Given the description of an element on the screen output the (x, y) to click on. 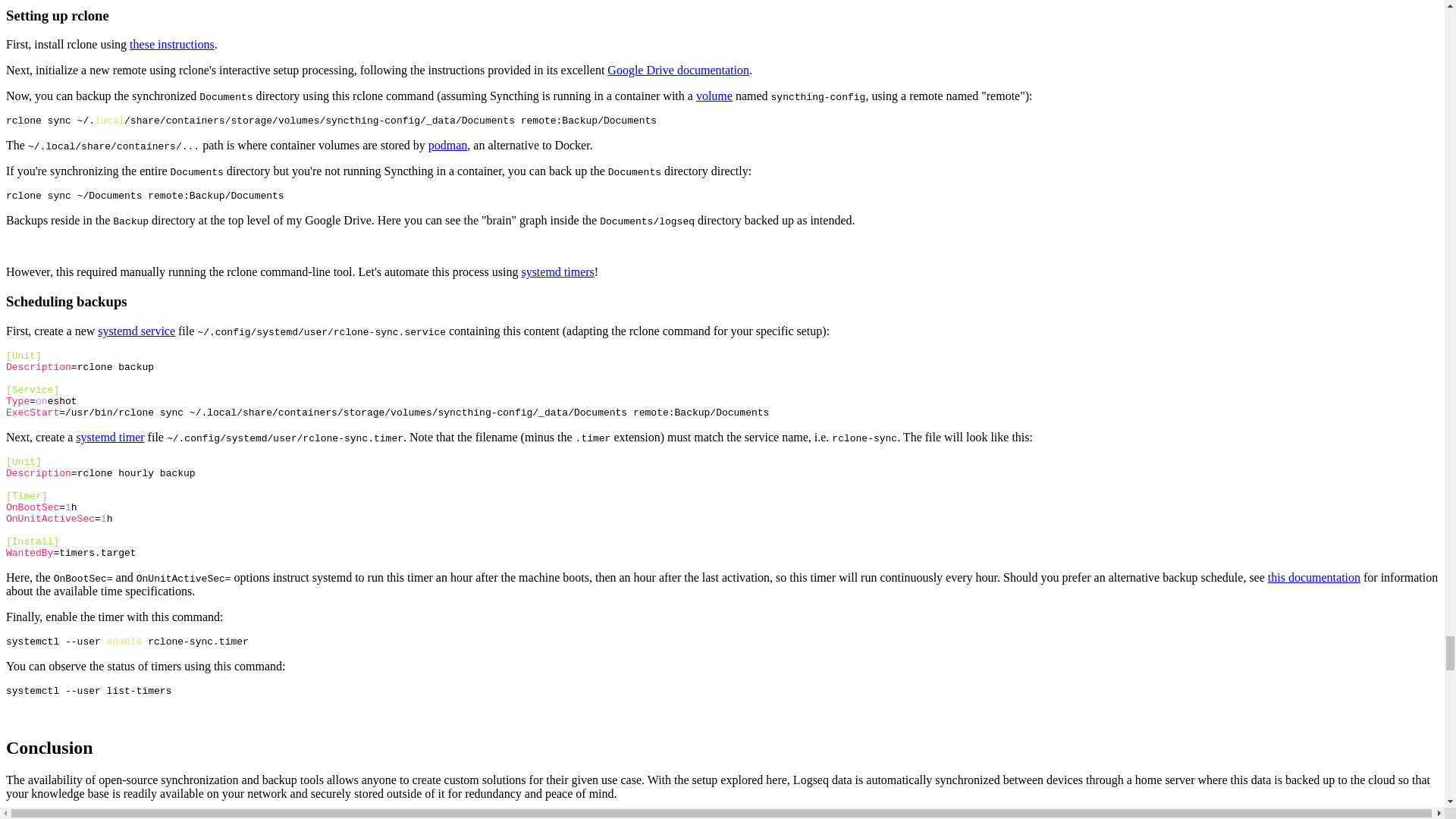
systemd timers (557, 271)
systemd timer (109, 436)
volume (713, 95)
systemd service (135, 330)
Google Drive documentation (678, 69)
podman (447, 144)
this documentation (1313, 576)
these instructions (171, 43)
